Given the description of an element on the screen output the (x, y) to click on. 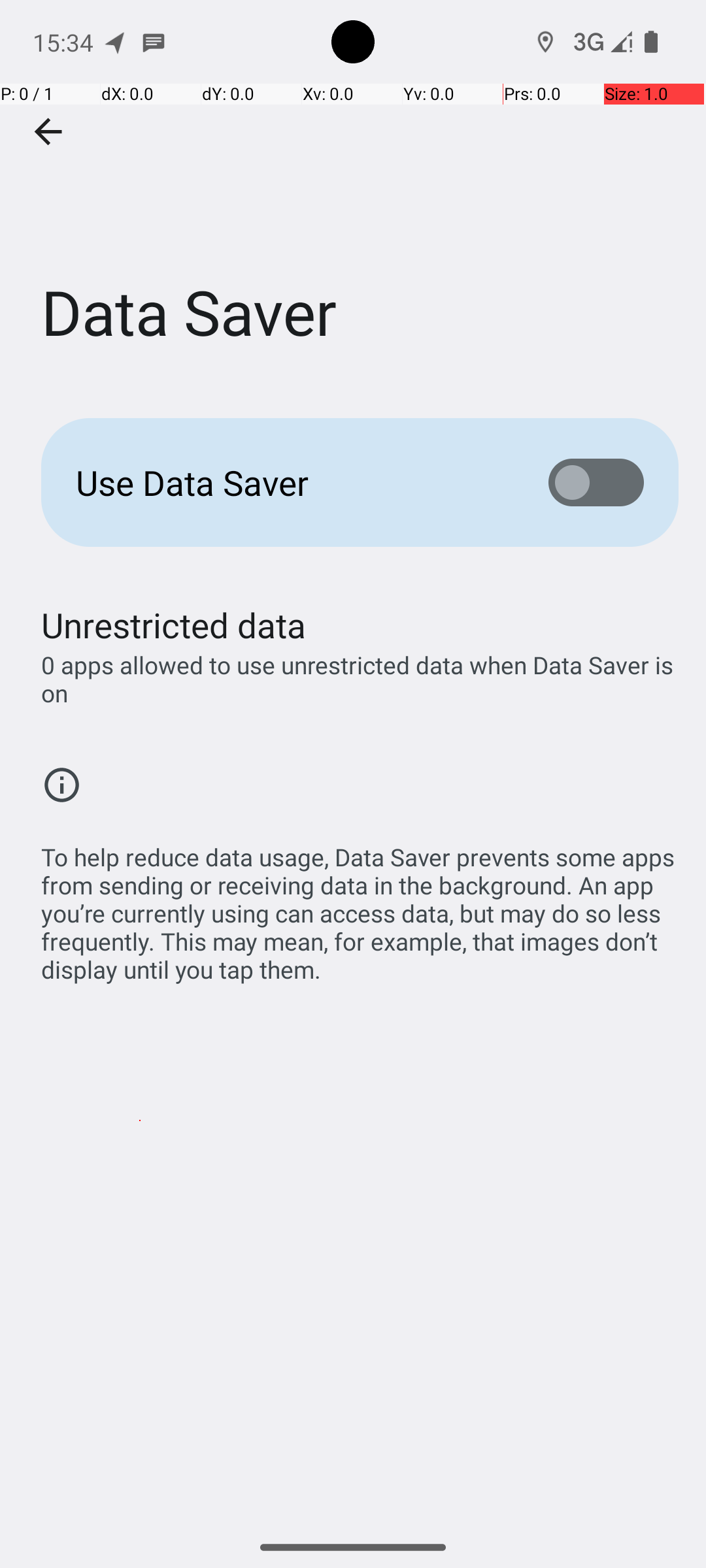
Data Saver Element type: android.widget.FrameLayout (353, 195)
Use Data Saver Element type: android.widget.TextView (291, 482)
Unrestricted data Element type: android.widget.TextView (173, 624)
0 apps allowed to use unrestricted data when Data Saver is on Element type: android.widget.TextView (359, 678)
To help reduce data usage, Data Saver prevents some apps from sending or receiving data in the background. An app you’re currently using can access data, but may do so less frequently. This may mean, for example, that images don’t display until you tap them. Element type: android.widget.TextView (359, 905)
